Given the description of an element on the screen output the (x, y) to click on. 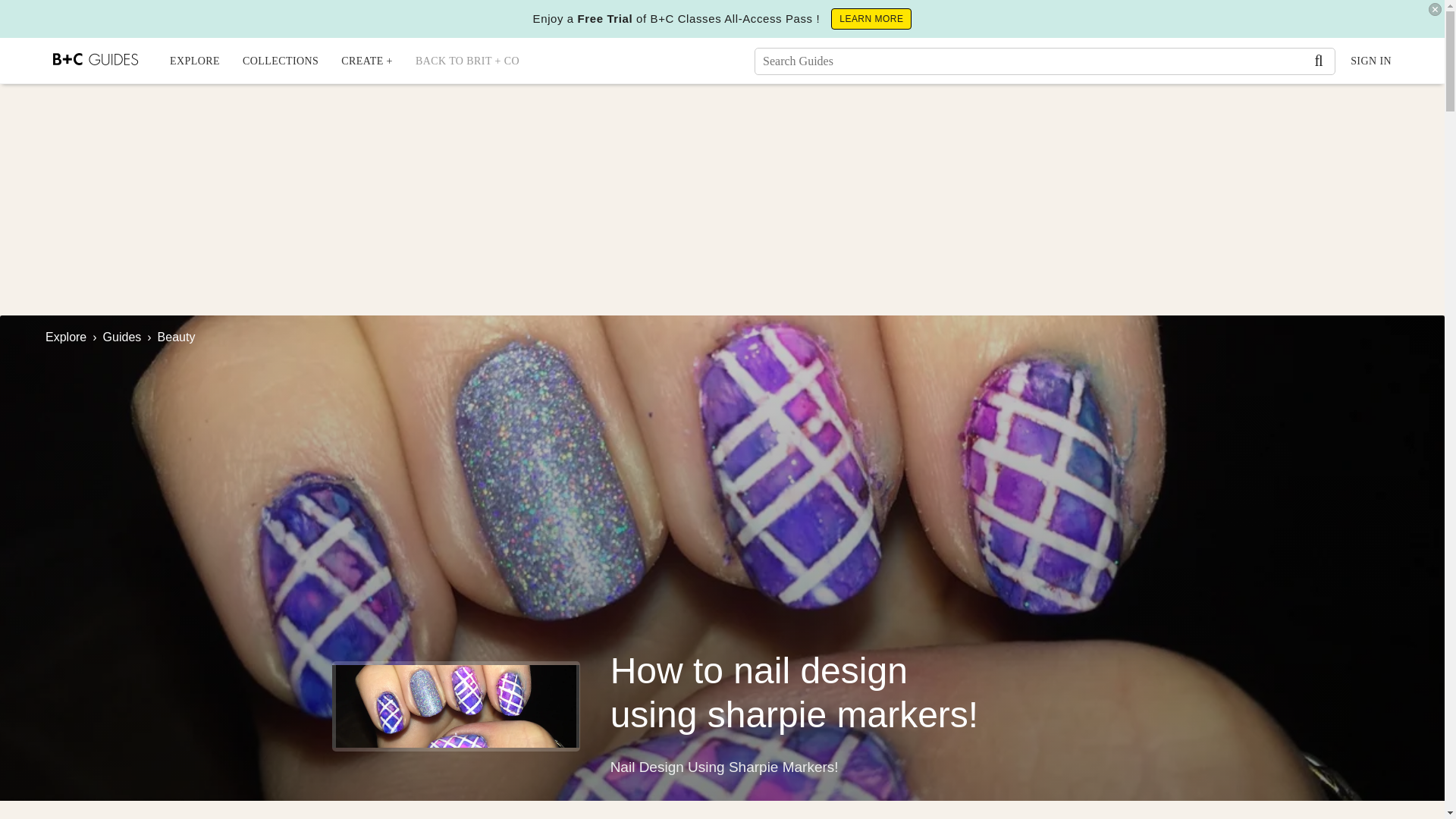
3rd party ad content (1047, 444)
3rd party ad content (721, 193)
